Given the description of an element on the screen output the (x, y) to click on. 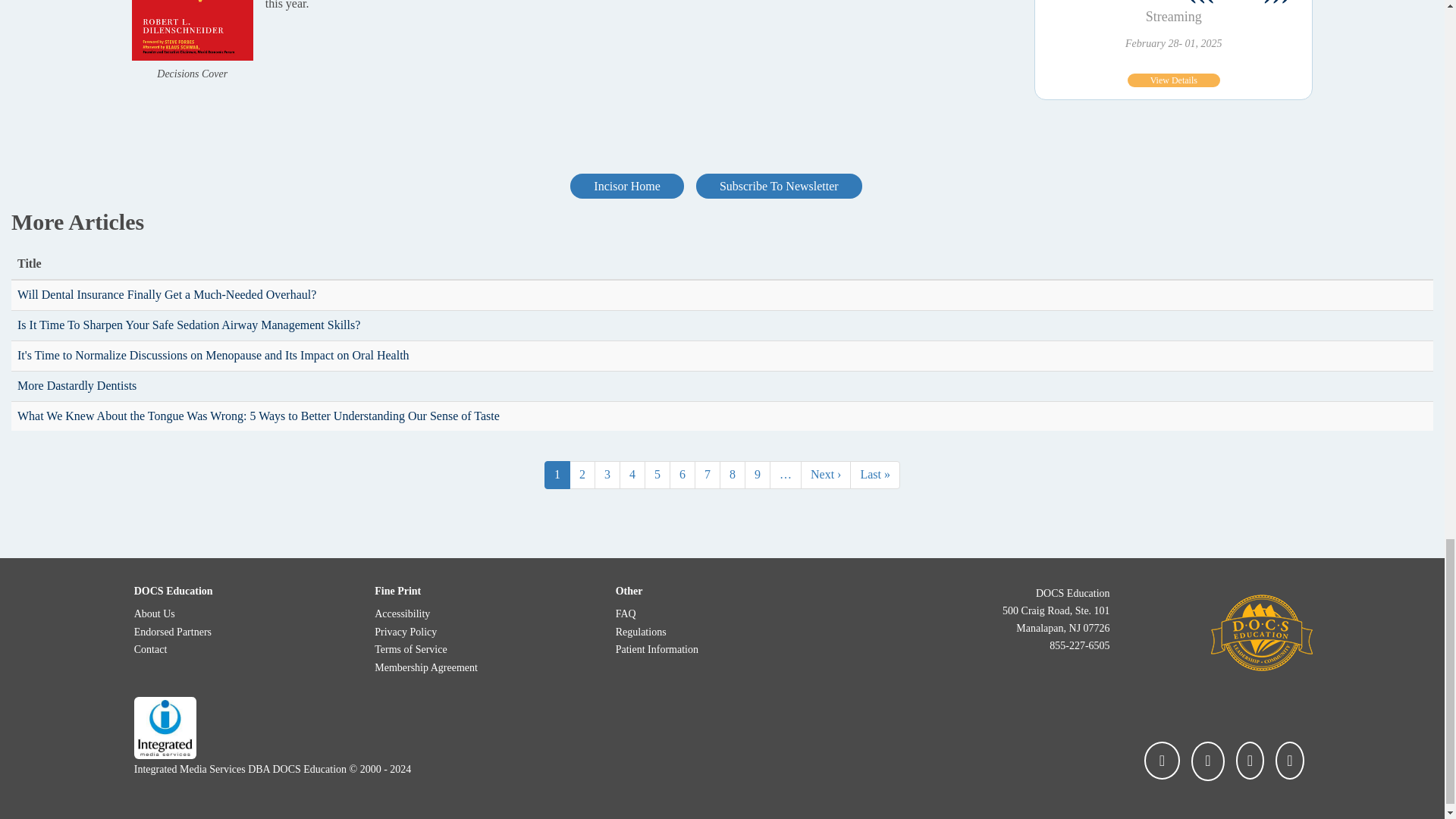
Go to page 8 (732, 474)
Go to page 5 (657, 474)
Go to next page (825, 474)
Go to page 2 (582, 474)
Go to page 3 (607, 474)
Go to page 6 (682, 474)
Go to page 4 (632, 474)
Current page (557, 474)
Go to page 9 (757, 474)
Go to page 7 (707, 474)
Go to last page (874, 474)
